Given the description of an element on the screen output the (x, y) to click on. 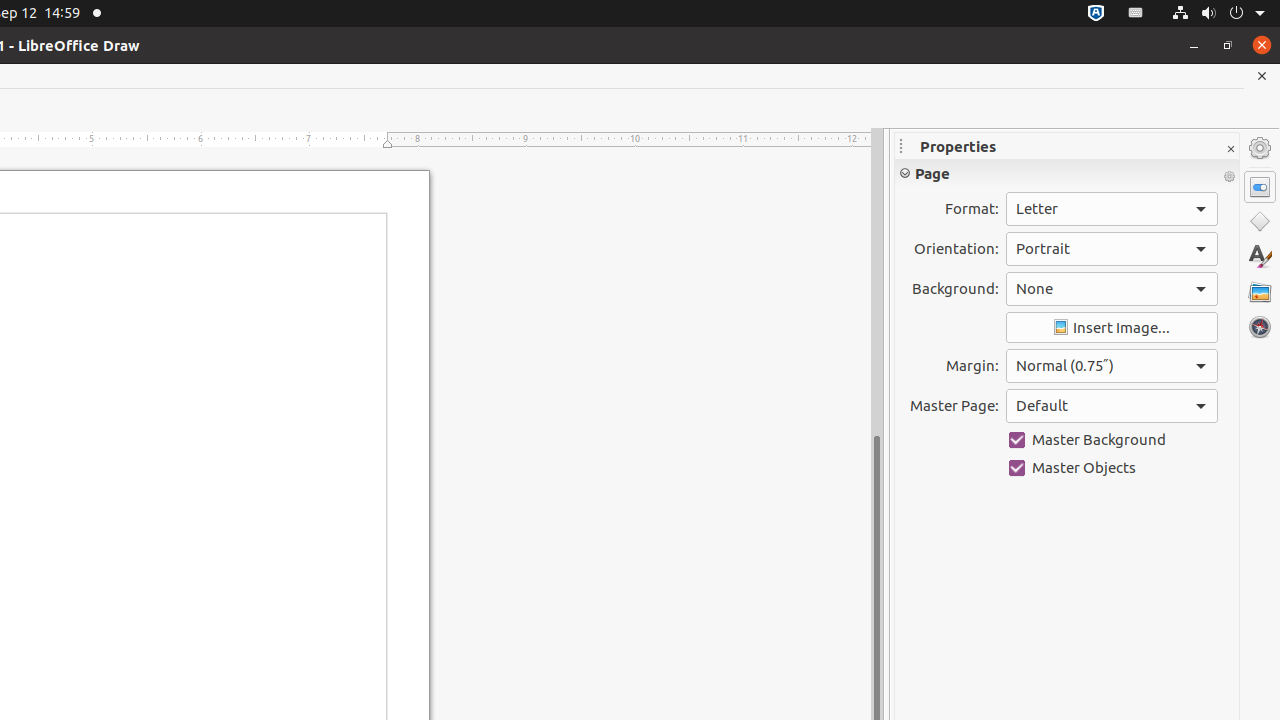
Insert Image Element type: push-button (1112, 327)
Styles Element type: radio-button (1260, 256)
